Given the description of an element on the screen output the (x, y) to click on. 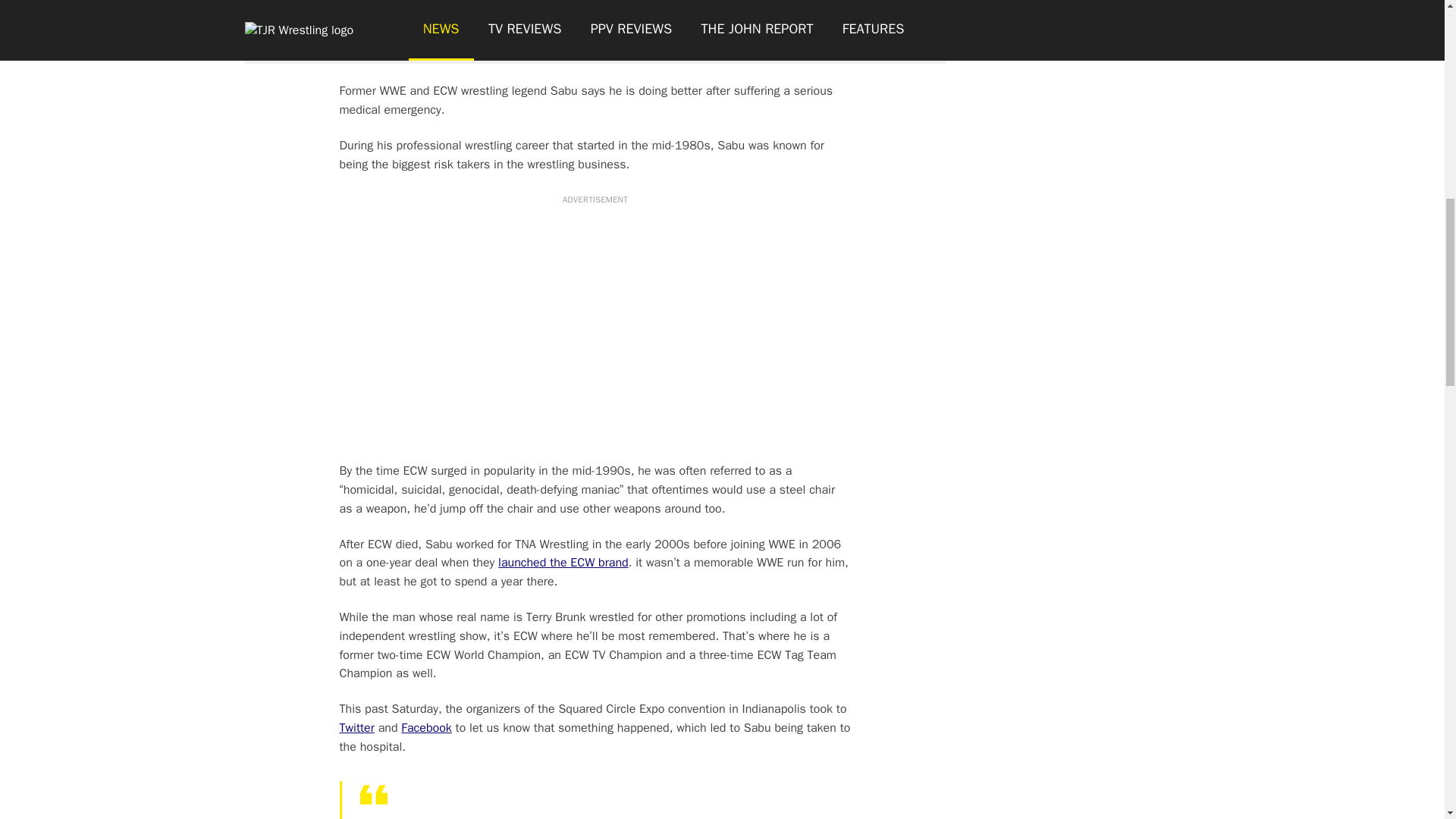
Twitter (356, 727)
launched the ECW brand (562, 562)
Facebook (426, 727)
